Given the description of an element on the screen output the (x, y) to click on. 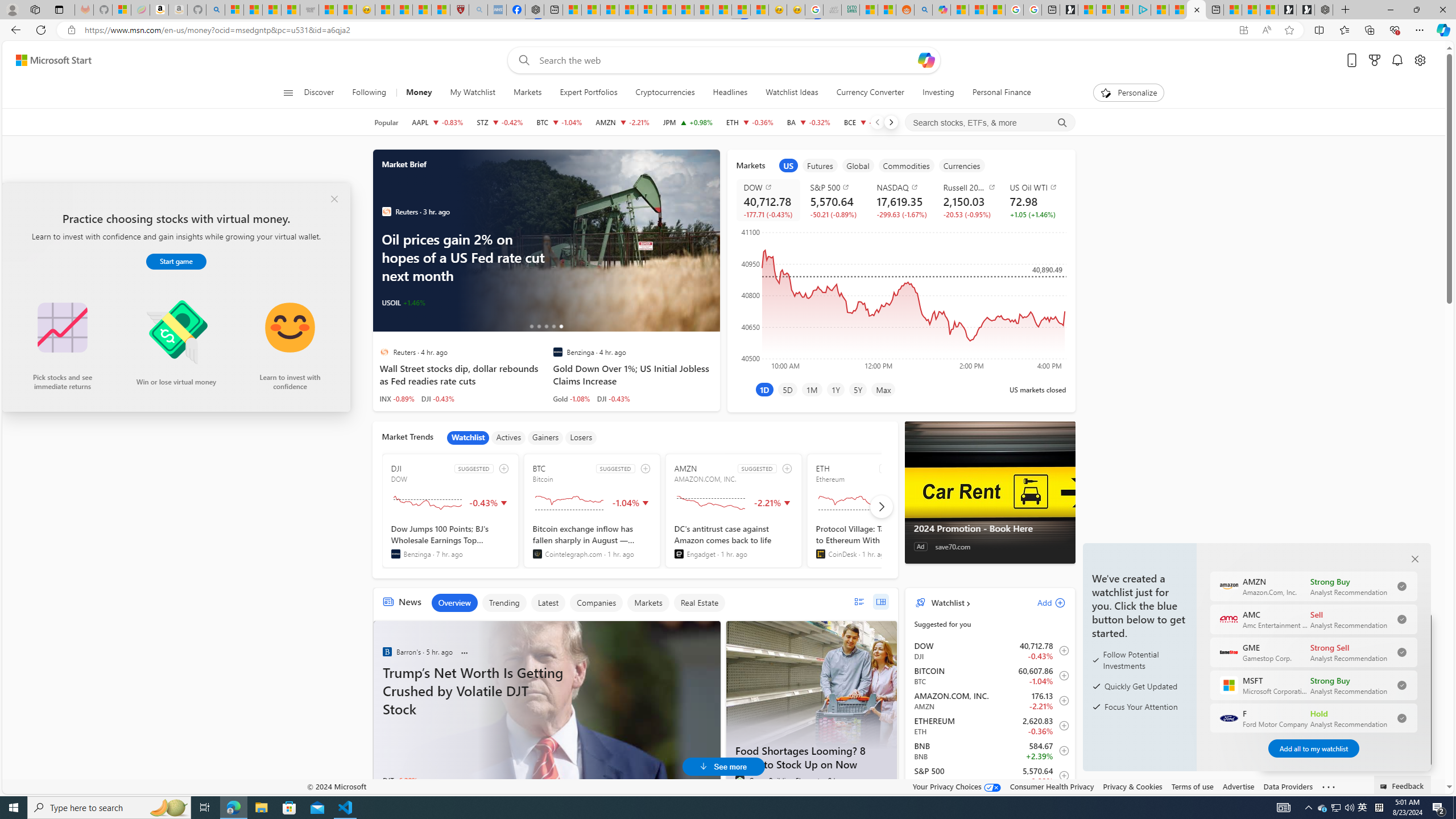
Class: oneFooter_seeMore-DS-EntryPoint1-1 (1328, 786)
Notifications (1397, 60)
1D (764, 389)
Markets (527, 92)
NASDAQ (903, 187)
Currency Converter (869, 92)
INTC -6.12% (400, 302)
App available. Install Start Money (1243, 29)
Companies (596, 602)
Rocket Companies shares dip 1% on earnings miss (586, 240)
INX -0.89% (397, 397)
